Given the description of an element on the screen output the (x, y) to click on. 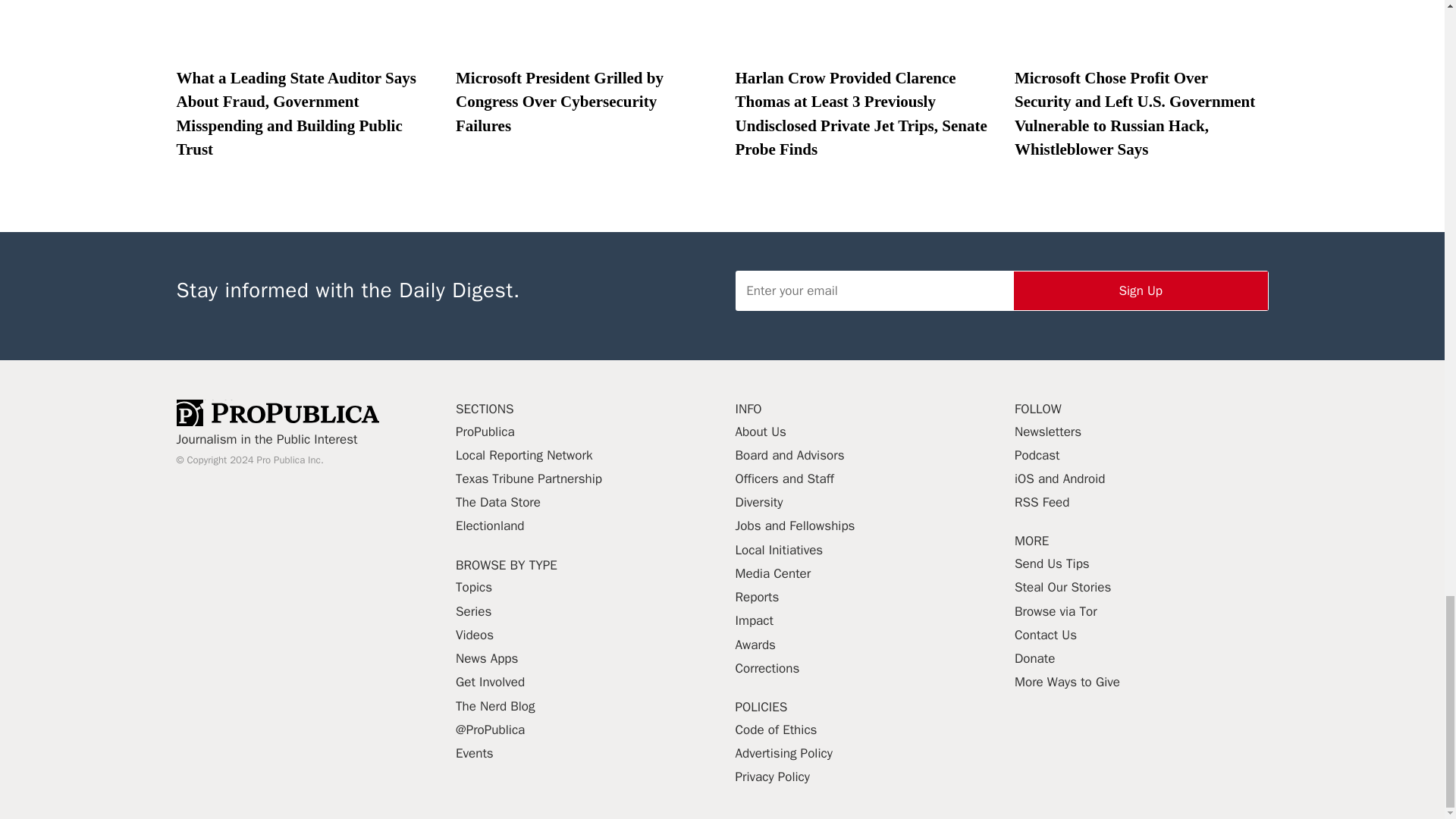
Sign Up (1140, 290)
ProPublica (277, 412)
